Given the description of an element on the screen output the (x, y) to click on. 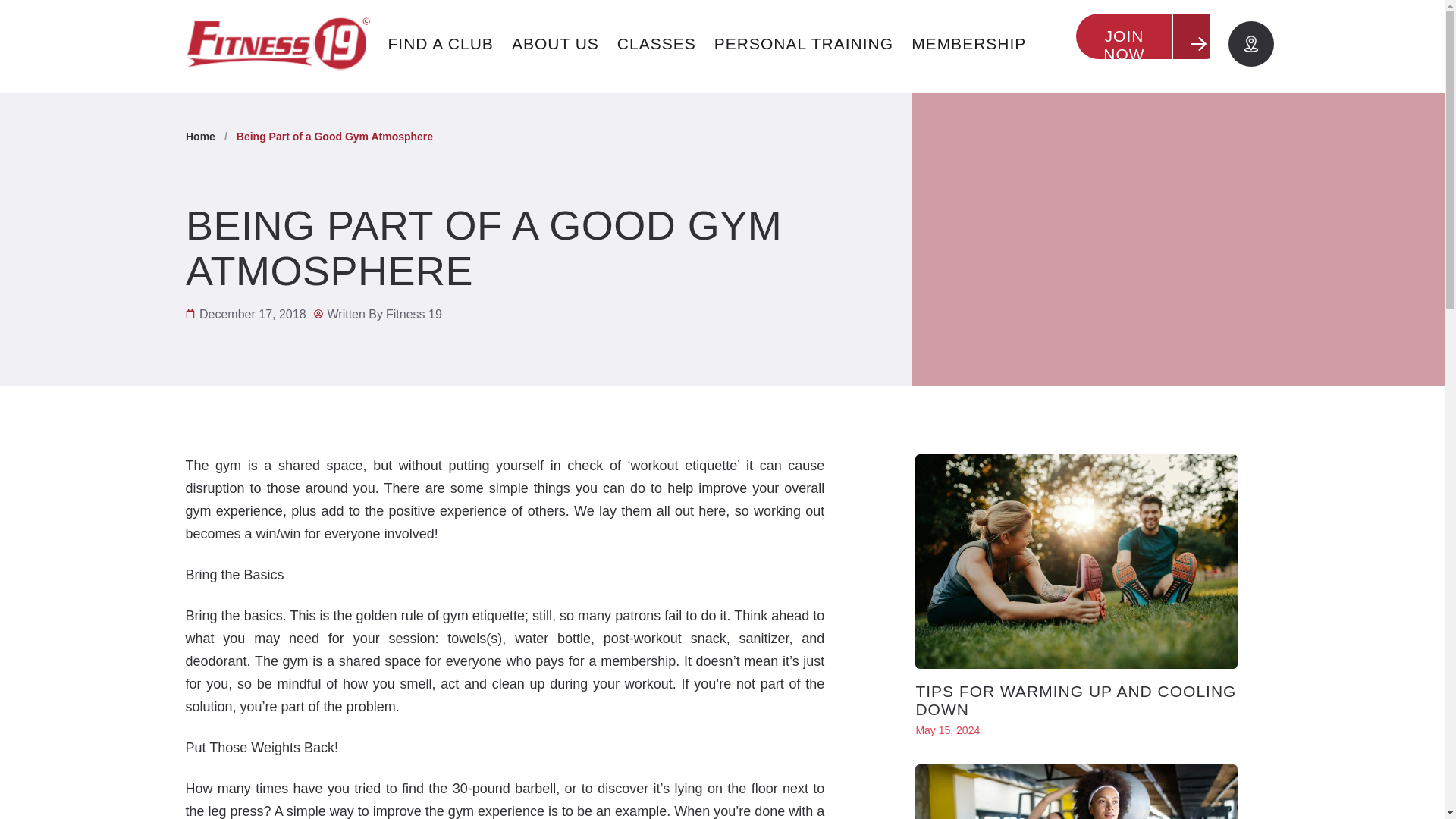
Home (200, 136)
MEMBERSHIP (968, 43)
May 15, 2024 (947, 729)
FIND A CLUB (440, 43)
ABOUT US (555, 43)
2024-05-15T13:13:33-07:00 (947, 729)
Home (200, 136)
Submit (938, 626)
JOIN NOW (1151, 43)
TIPS FOR WARMING UP AND COOLING DOWN (1075, 700)
PERSONAL TRAINING (803, 43)
CLASSES (656, 43)
